Given the description of an element on the screen output the (x, y) to click on. 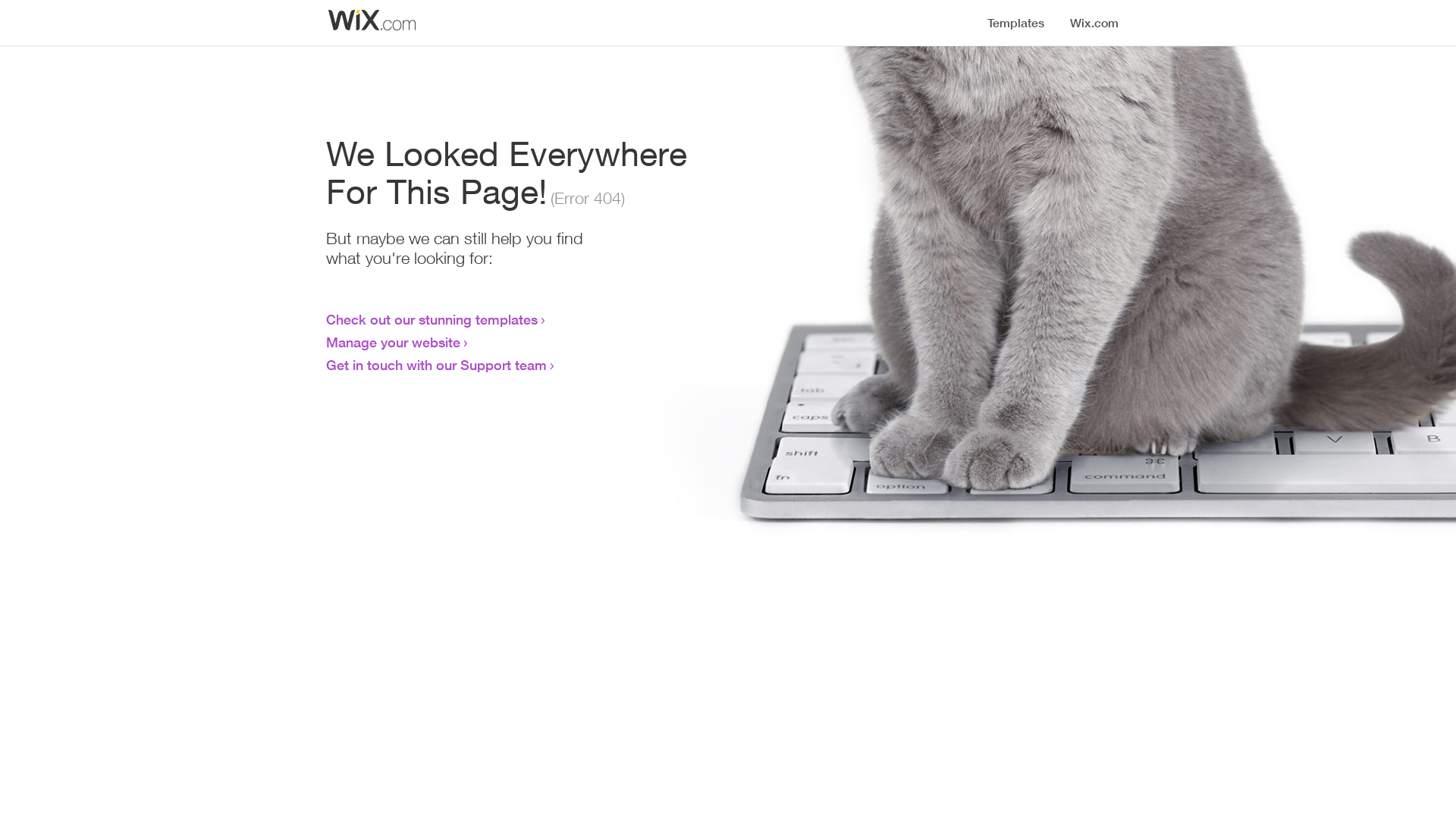
Get in touch with our Support team Element type: text (436, 364)
Check out our stunning templates Element type: text (431, 318)
Manage your website Element type: text (393, 341)
